Given the description of an element on the screen output the (x, y) to click on. 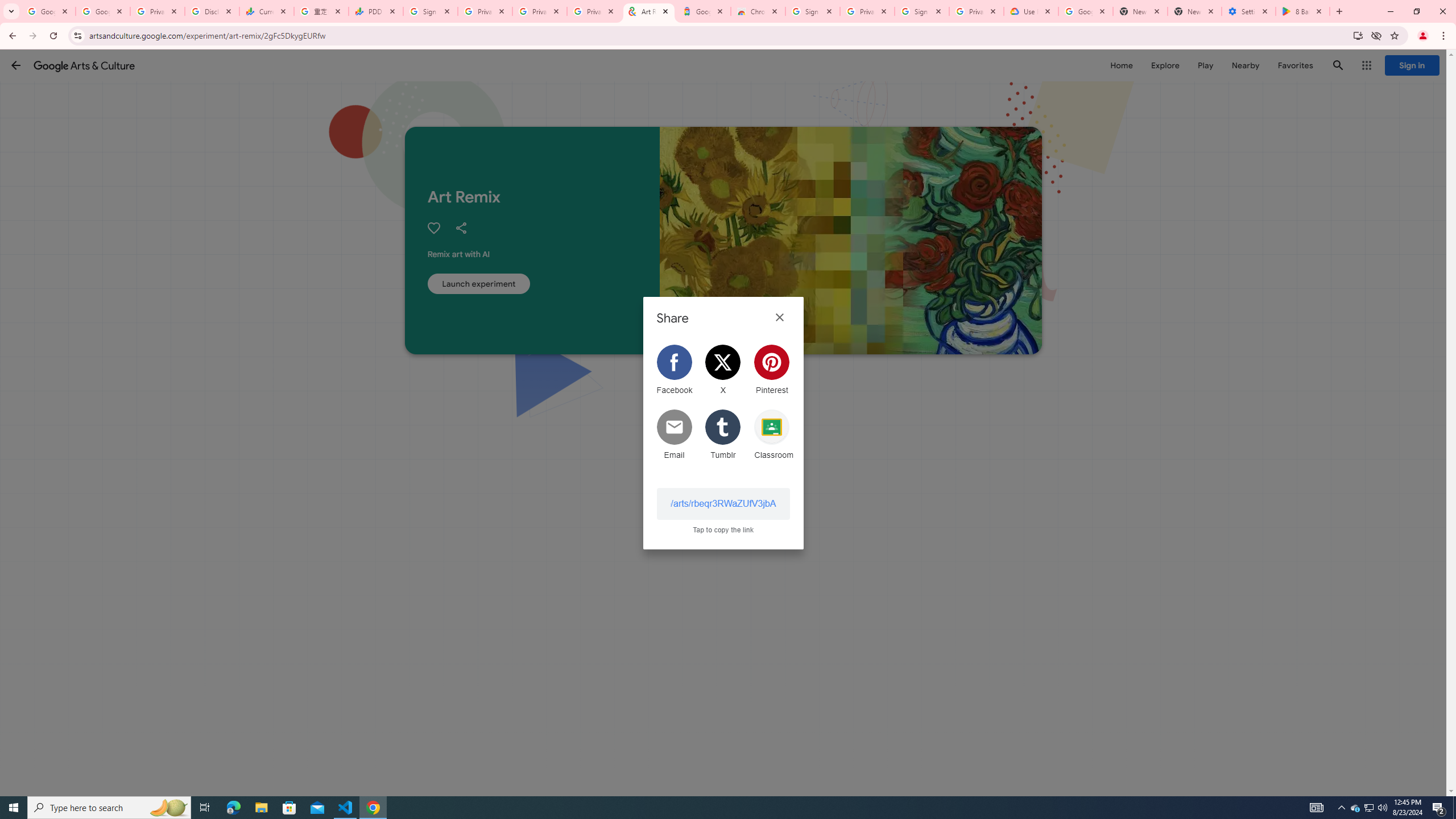
Install Google Arts & Culture (1358, 35)
Nearby (1244, 65)
Sign in - Google Accounts (921, 11)
Settings - System (1249, 11)
Sign in - Google Accounts (812, 11)
Chrome Web Store - Color themes by Chrome (757, 11)
